Given the description of an element on the screen output the (x, y) to click on. 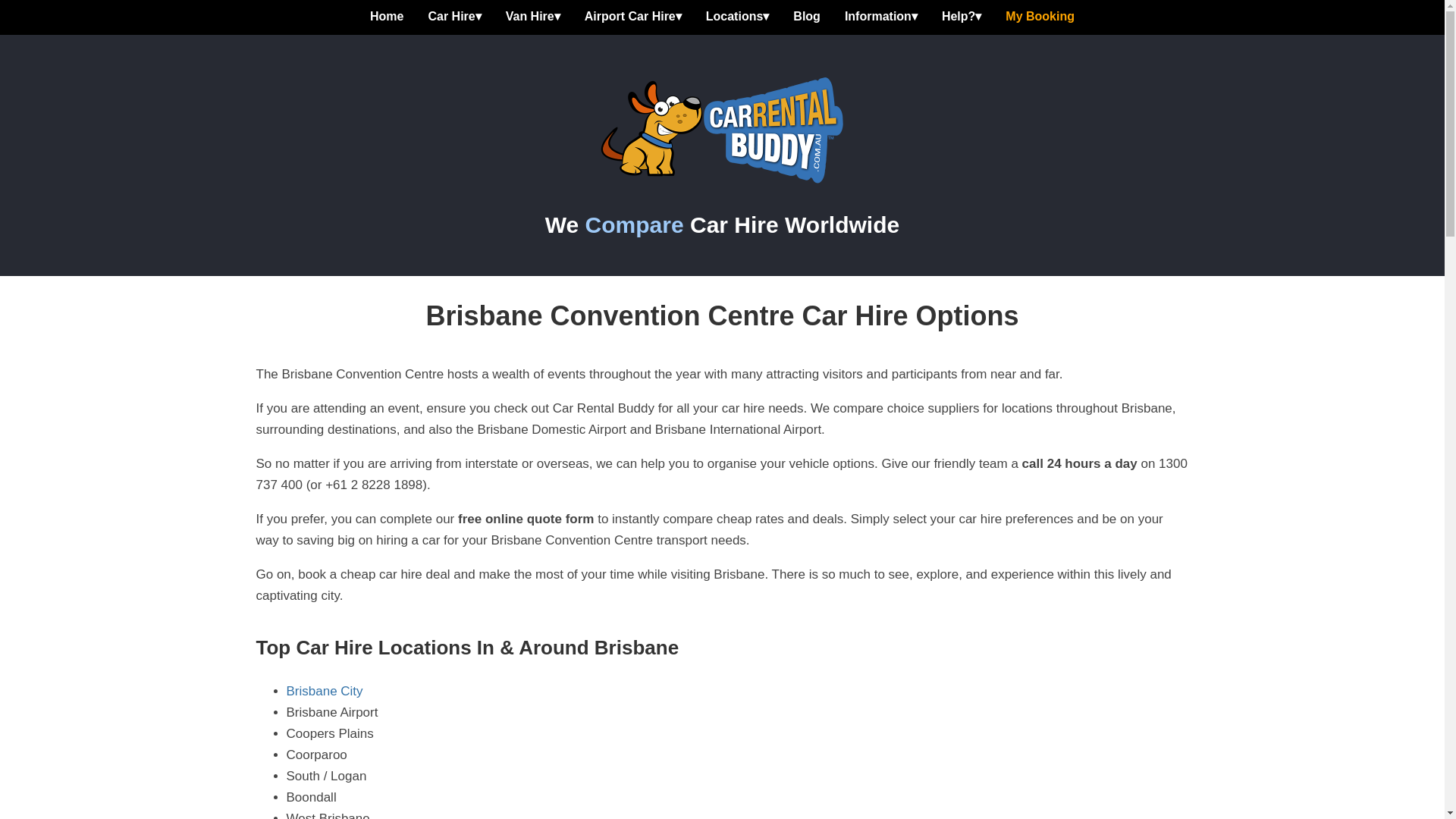
Blog (806, 17)
Home (386, 17)
